Given the description of an element on the screen output the (x, y) to click on. 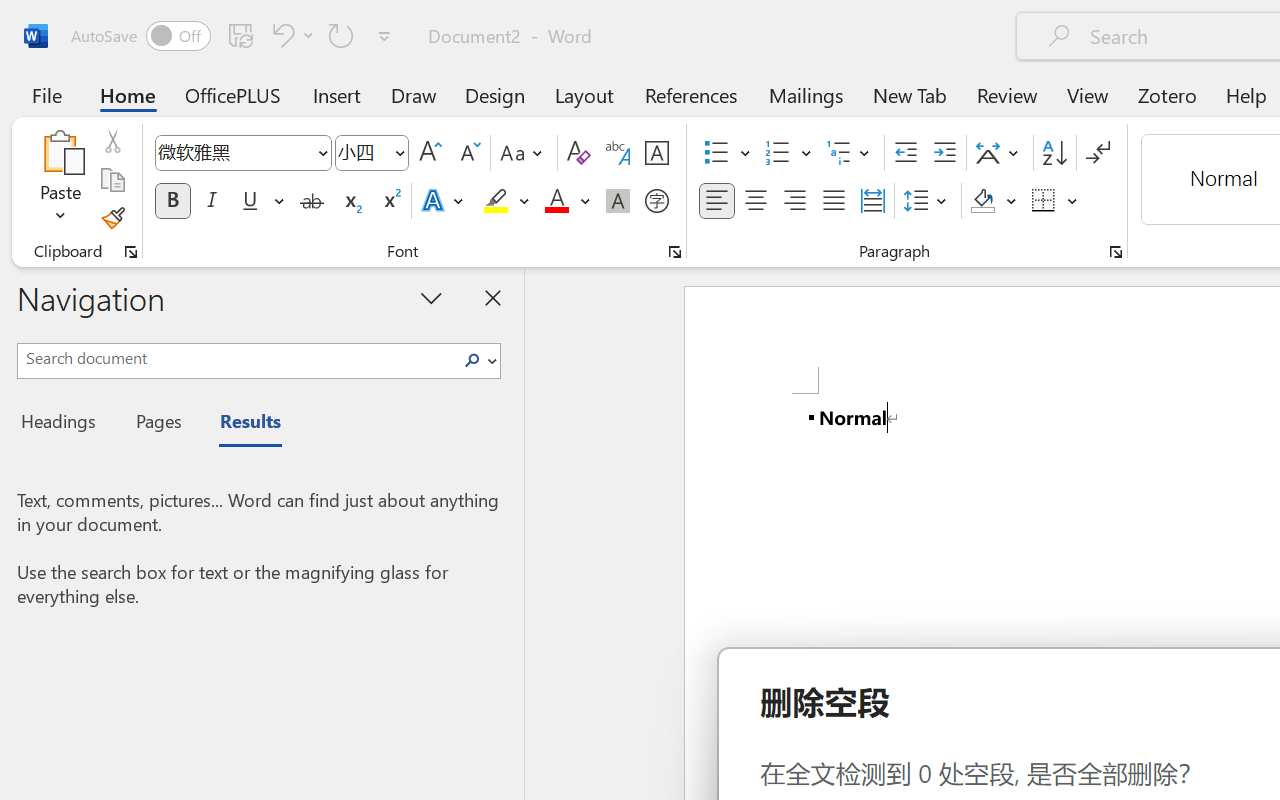
Multilevel List (850, 153)
View (1087, 94)
Enclose Characters... (656, 201)
Clear Formatting (578, 153)
Save (241, 35)
Show/Hide Editing Marks (1098, 153)
Font Size (372, 153)
Format Painter (112, 218)
Pages (156, 424)
Align Right (794, 201)
Shading RGB(0, 0, 0) (982, 201)
Design (495, 94)
Open (399, 152)
Font Color (567, 201)
